Given the description of an element on the screen output the (x, y) to click on. 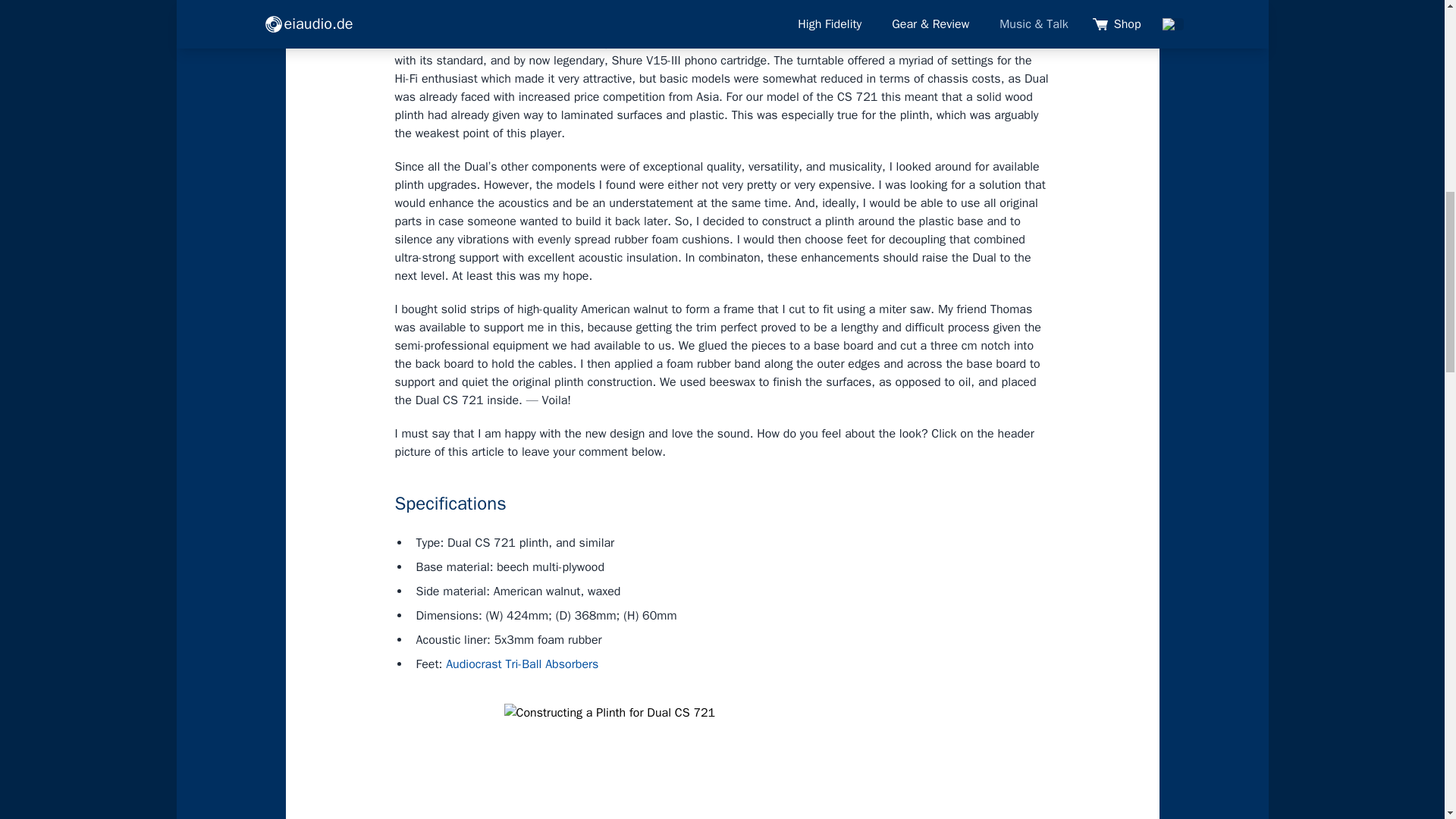
Audiocrast Tri-Ball Absorbers (521, 663)
